Given the description of an element on the screen output the (x, y) to click on. 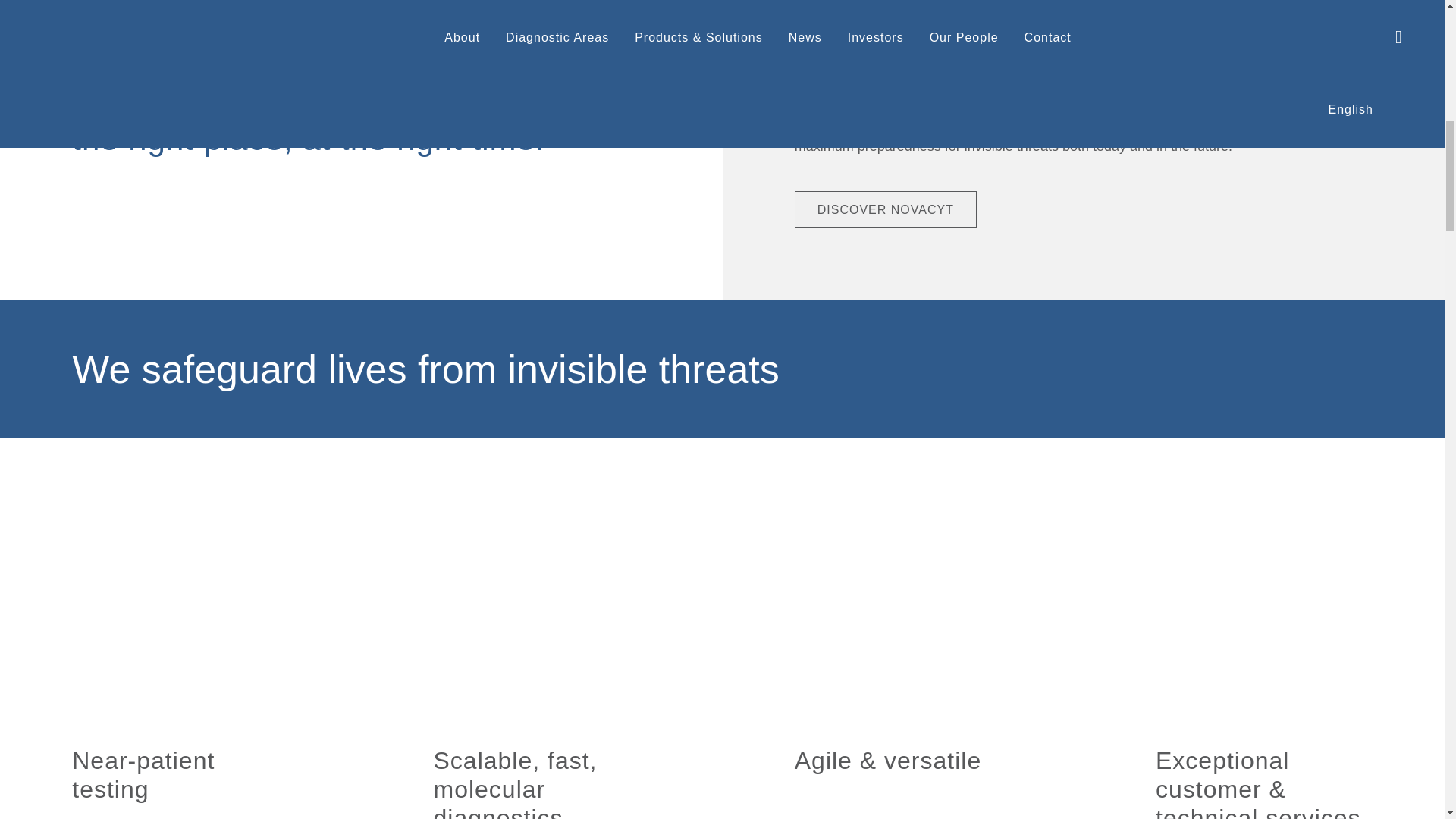
home-1 (179, 614)
home-3 (902, 614)
home-4 (1264, 614)
home-2 (541, 614)
